Given the description of an element on the screen output the (x, y) to click on. 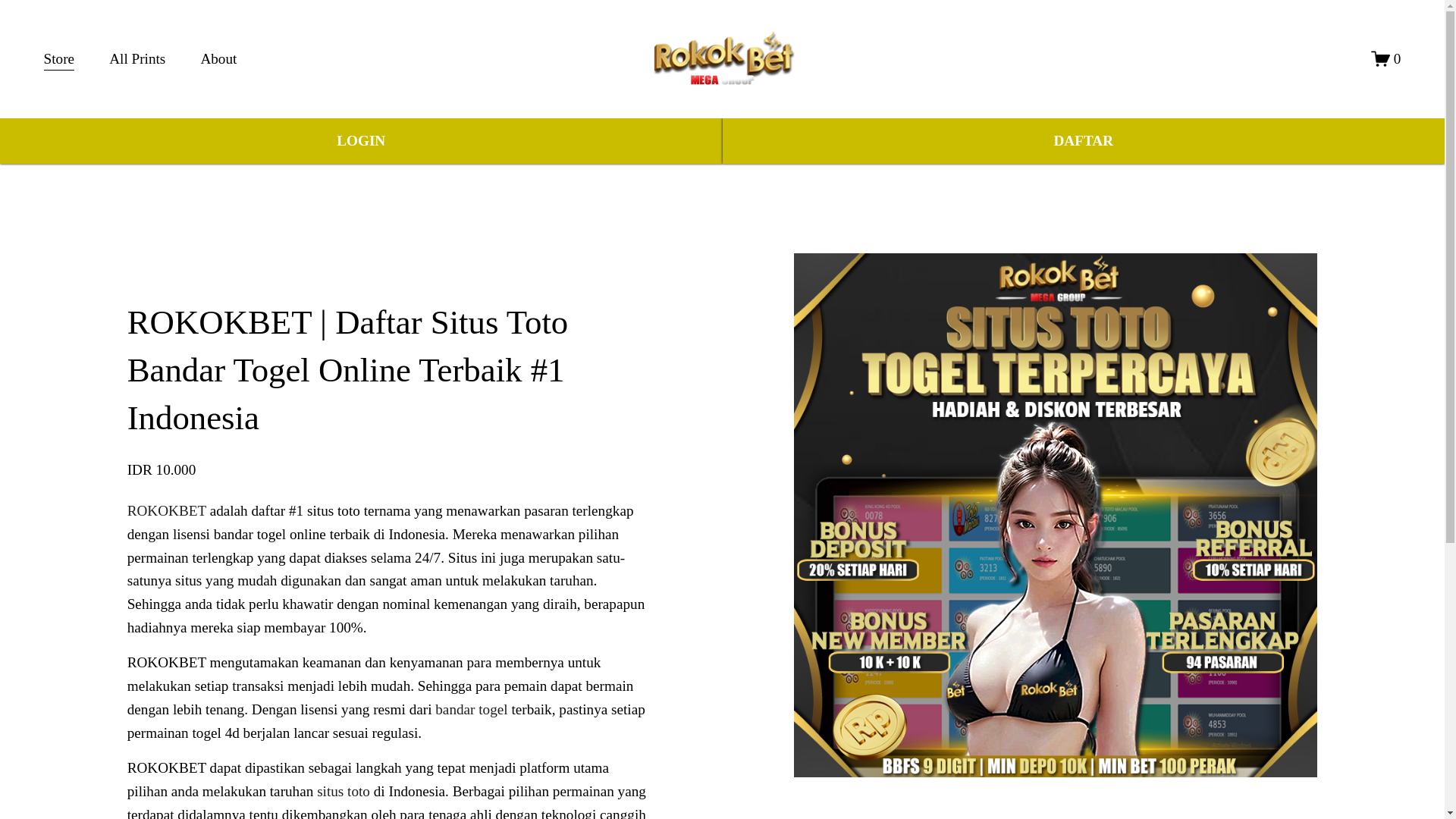
0 (1385, 58)
Store (59, 58)
bandar togel (470, 709)
LOGIN (361, 140)
situs toto (343, 790)
About (217, 58)
All Prints (137, 58)
ROKOKBET (167, 510)
